Given the description of an element on the screen output the (x, y) to click on. 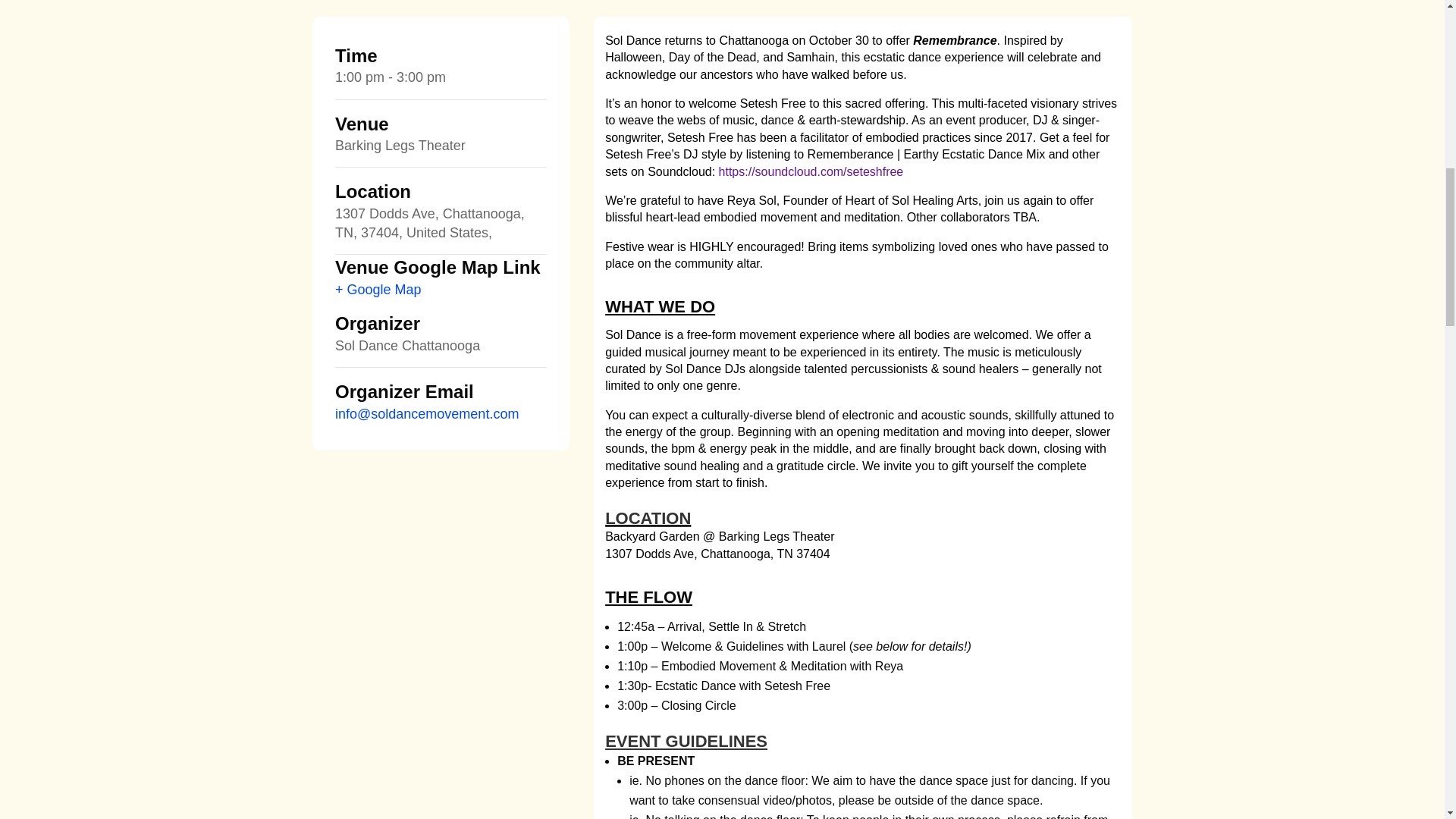
Click to view a Google Map (378, 289)
